Given the description of an element on the screen output the (x, y) to click on. 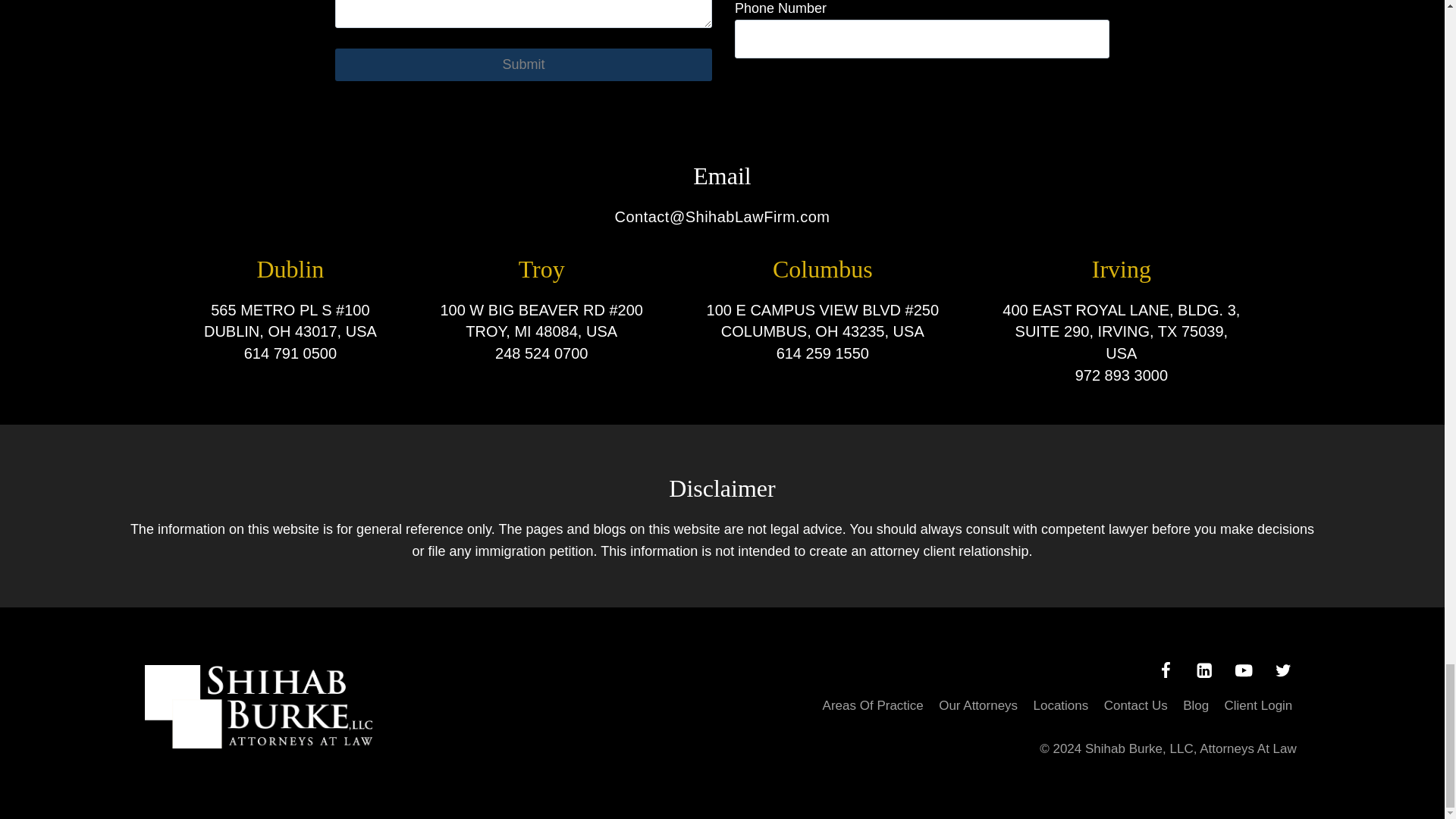
Submit (522, 64)
